Given the description of an element on the screen output the (x, y) to click on. 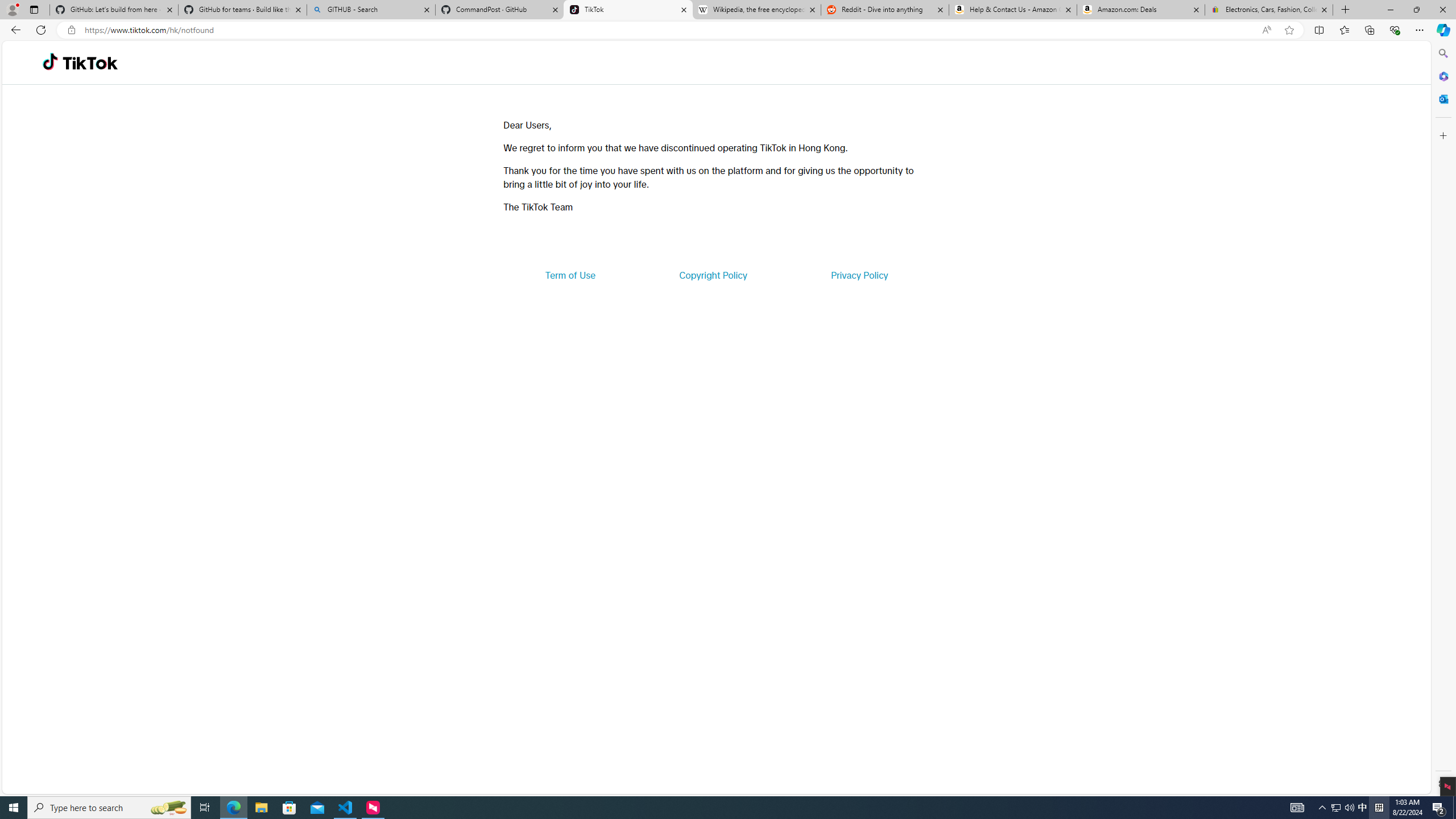
Amazon.com: Deals (1140, 9)
